Given the description of an element on the screen output the (x, y) to click on. 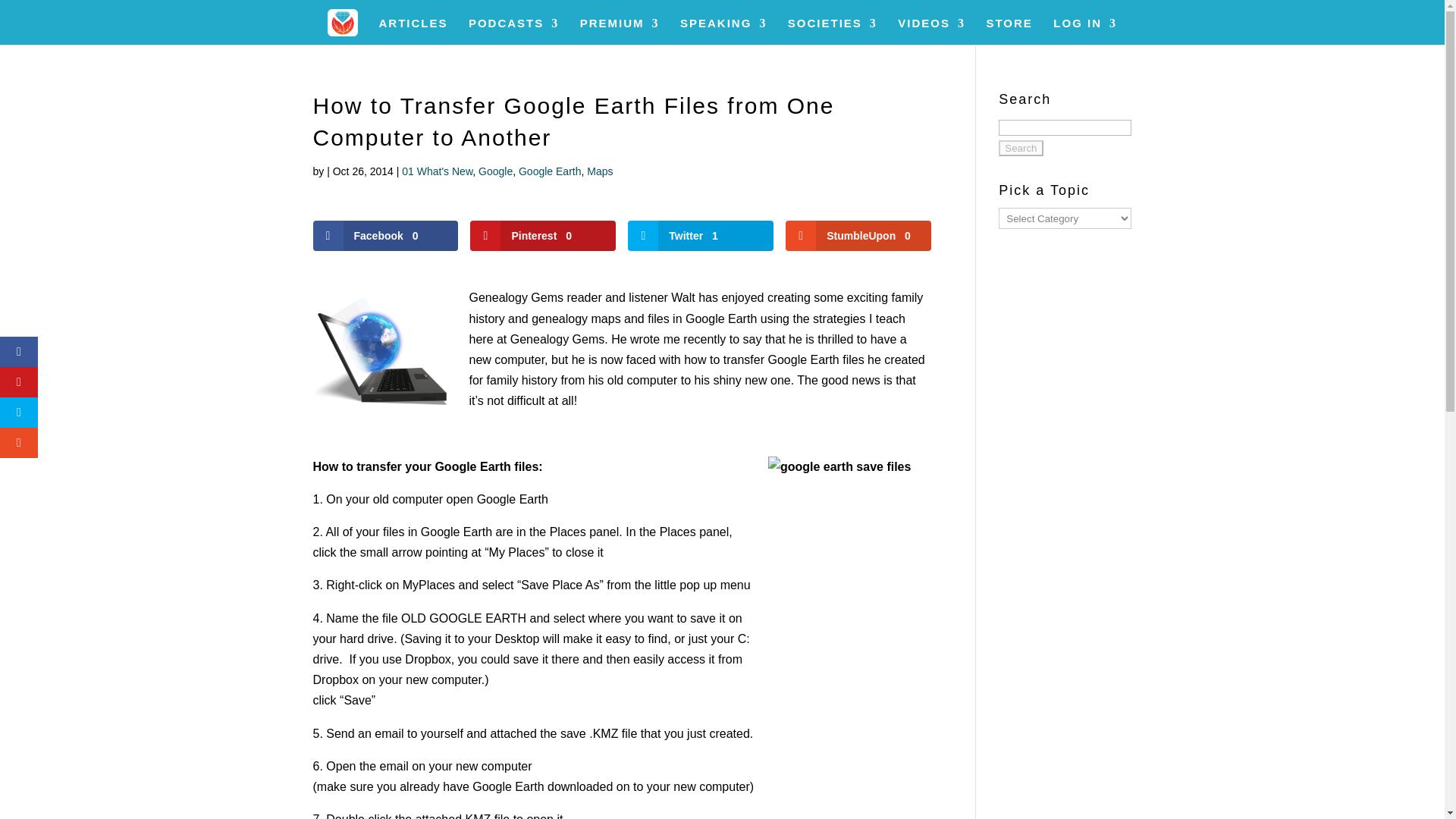
PODCASTS (513, 31)
SPEAKING (723, 31)
Search (1020, 148)
STORE (1008, 31)
ARTICLES (412, 31)
SOCIETIES (832, 31)
Login (1115, 250)
Watch free genealogy videos (931, 31)
LOG IN (1084, 31)
PREMIUM (619, 31)
VIDEOS (931, 31)
